Given the description of an element on the screen output the (x, y) to click on. 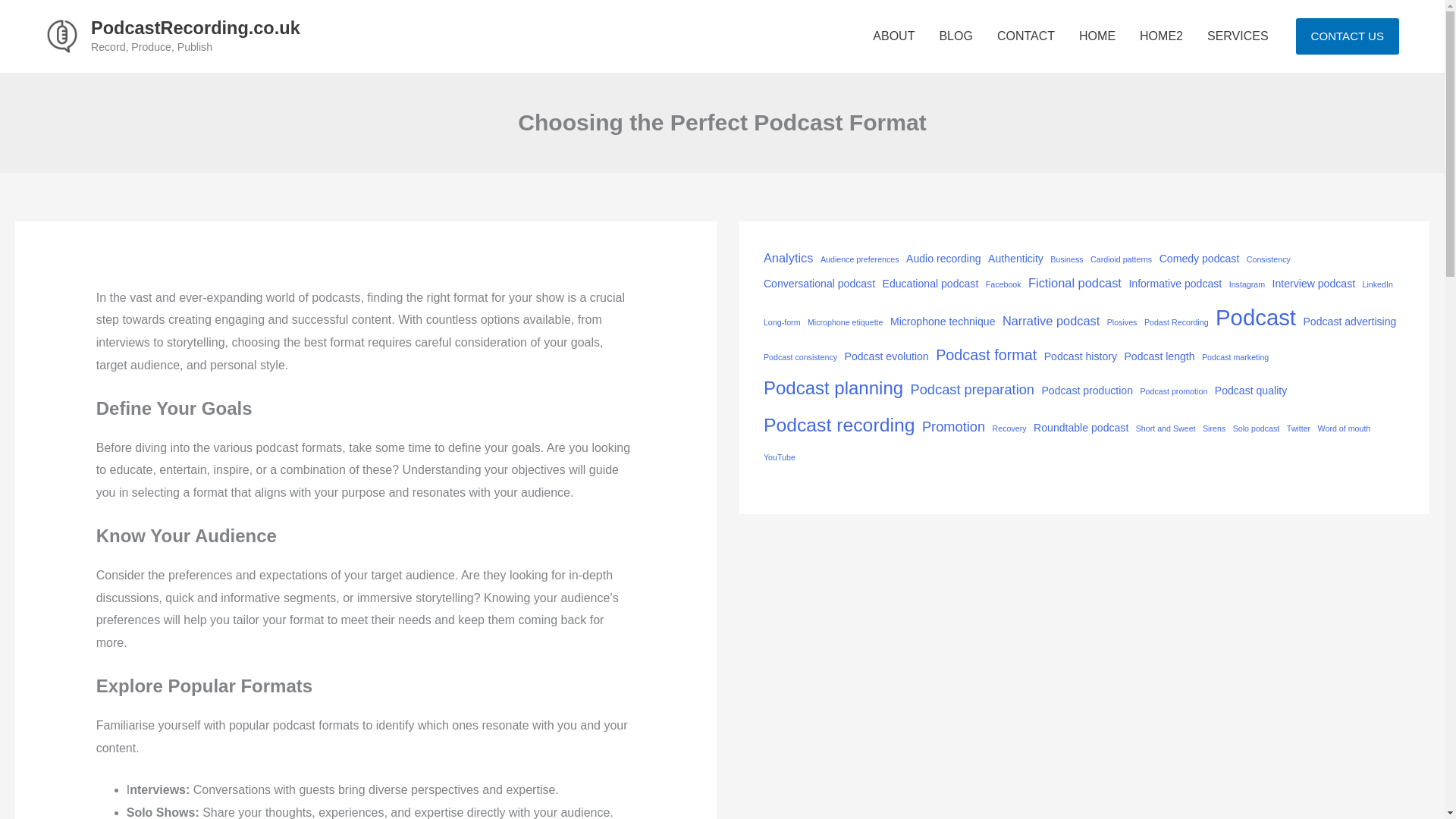
Cardioid patterns (1120, 259)
CONTACT US (1347, 36)
Audience preferences (860, 259)
SERVICES (1238, 36)
Analytics (787, 258)
Comedy podcast (1199, 258)
Facebook (1003, 284)
PodcastRecording.co.uk (194, 27)
HOME2 (1160, 36)
ABOUT (893, 36)
